Given the description of an element on the screen output the (x, y) to click on. 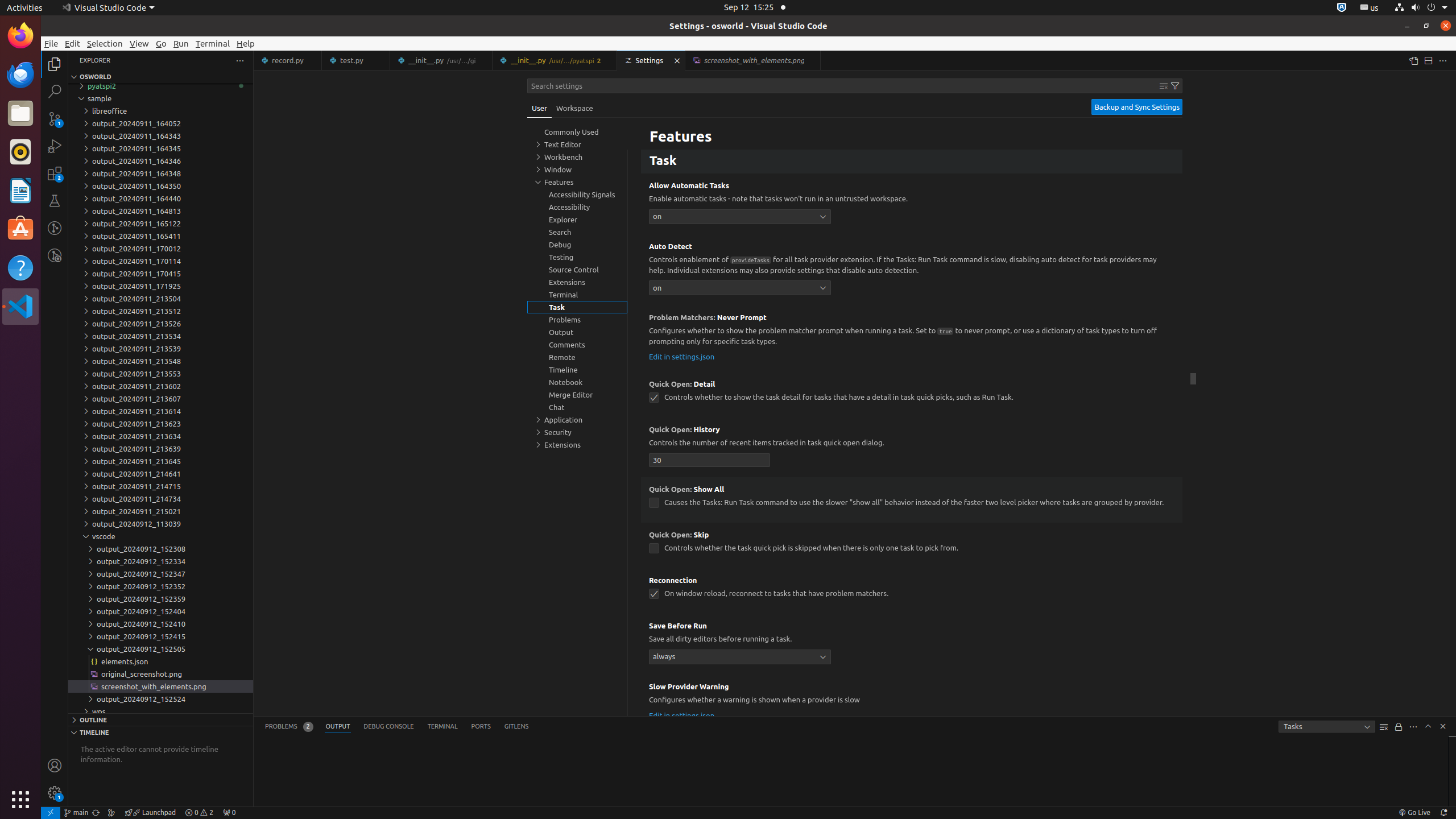
 Slow Provider Warning. Configures whether a warning is shown when a provider is slow  Element type: tree-item (911, 702)
File Element type: push-button (50, 43)
task.quickOpen.detail Element type: check-box (653, 397)
remote Element type: push-button (50, 812)
User Element type: check-box (539, 107)
